Given the description of an element on the screen output the (x, y) to click on. 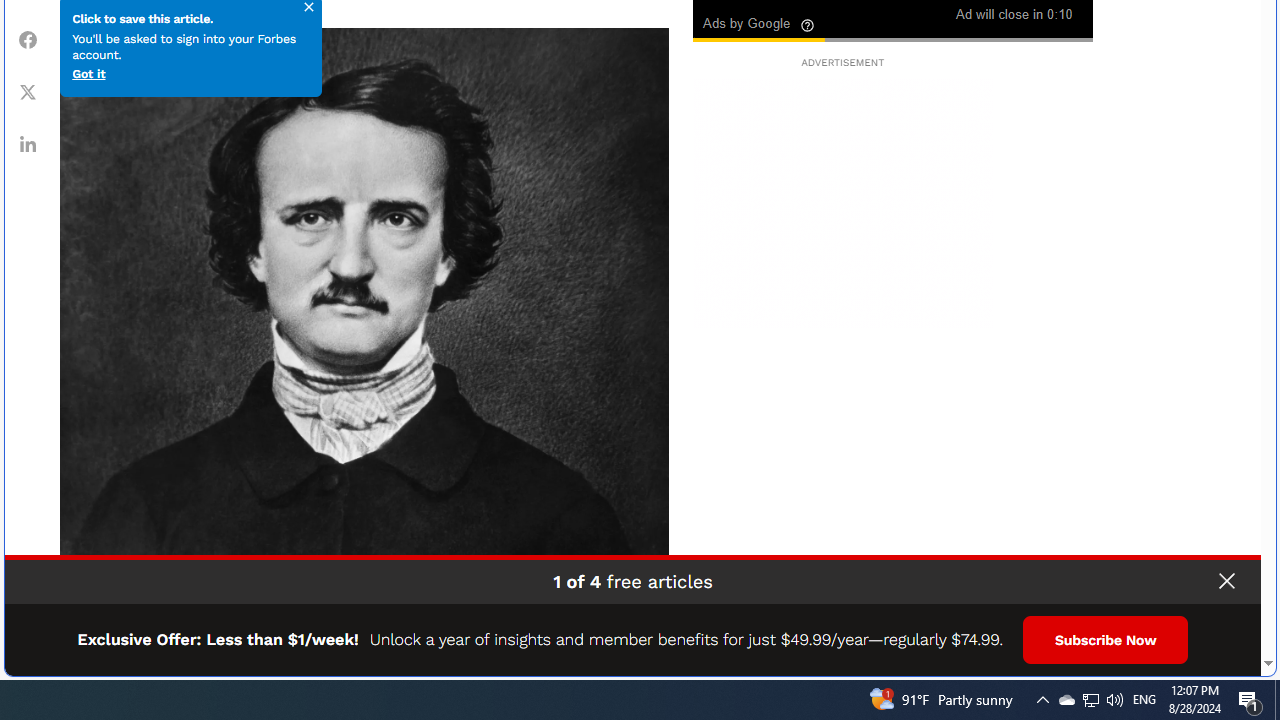
Class: wtaIconSvg (808, 25)
